Given the description of an element on the screen output the (x, y) to click on. 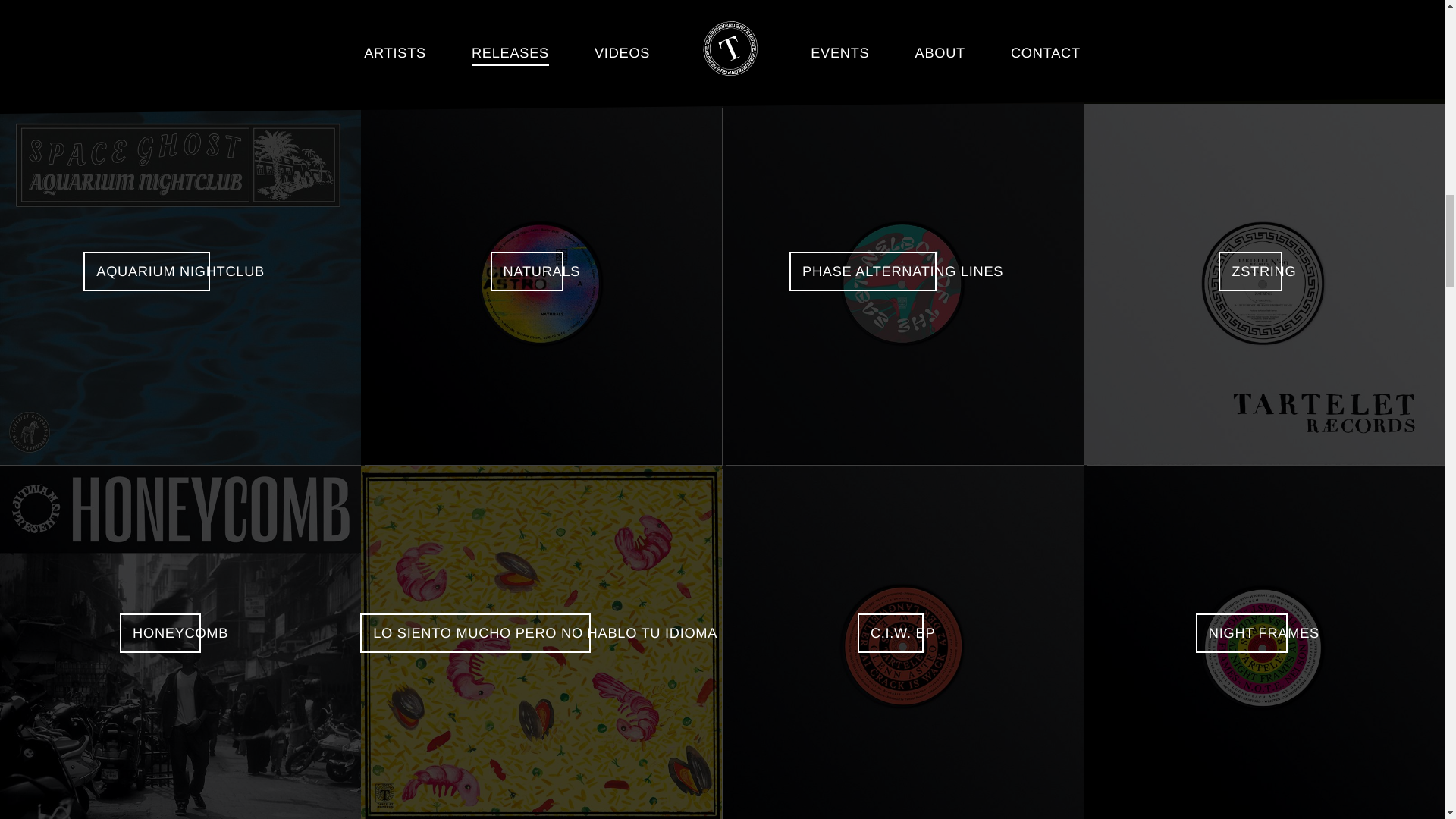
AQUARIUM NIGHTCLUB (180, 284)
C.I.W. EP (902, 642)
TIME TO DANCE (180, 52)
KYBELE (541, 52)
HONEYCOMB (180, 642)
PHASE ALTERNATING LINES (902, 284)
LO SIENTO MUCHO PERO NO HABLO TU IDIOMA (541, 642)
NATURALS (541, 284)
